Given the description of an element on the screen output the (x, y) to click on. 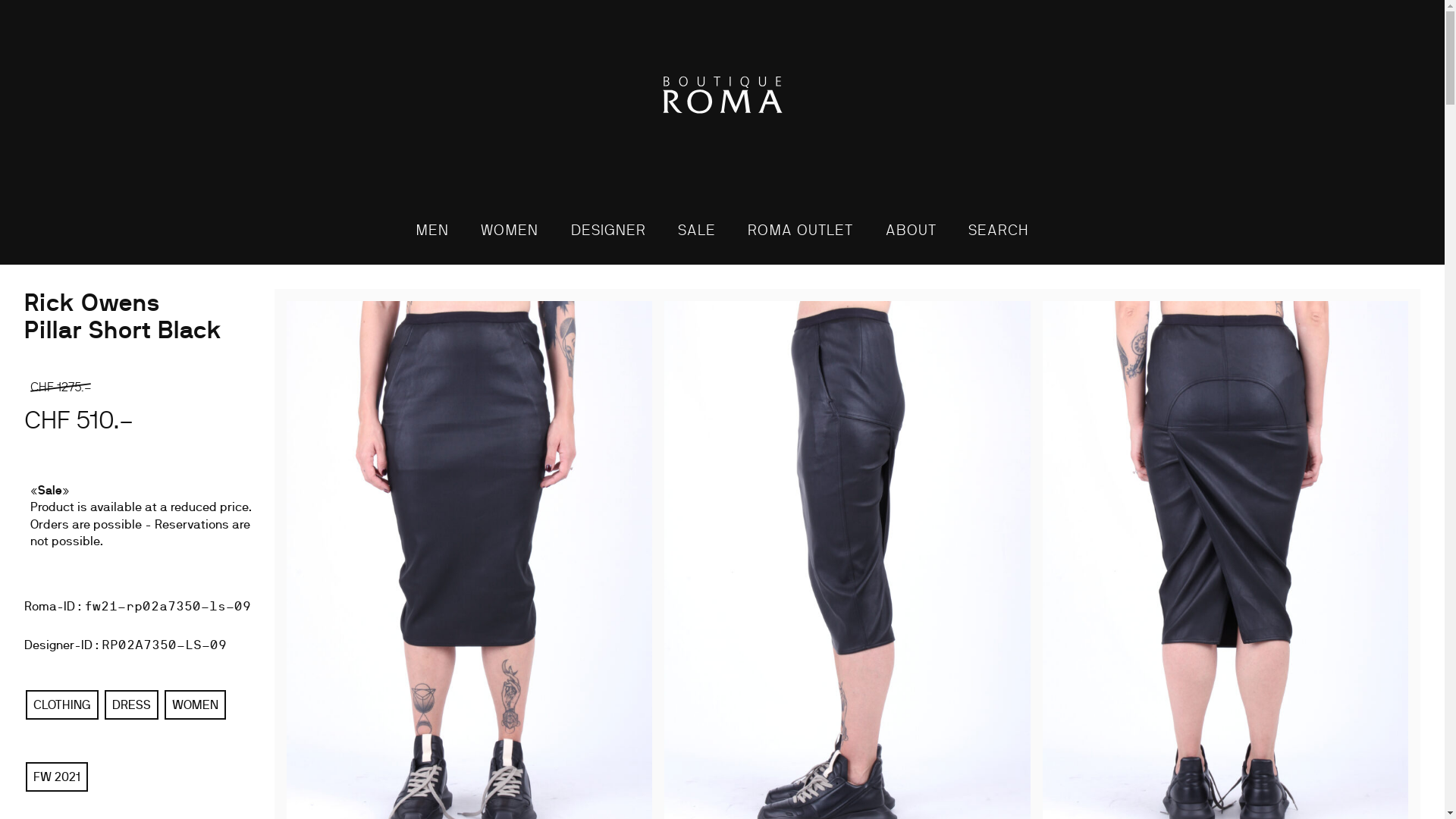
DESIGNER Element type: text (607, 229)
WOMEN Element type: text (194, 704)
SALE Element type: text (696, 229)
FW 2021 Element type: text (56, 776)
CLOTHING Element type: text (61, 704)
WOMEN Element type: text (509, 229)
MEN Element type: text (432, 229)
DRESS Element type: text (131, 704)
SEARCH Element type: text (998, 229)
ROMA OUTLET Element type: text (800, 229)
ABOUT Element type: text (910, 229)
